Given the description of an element on the screen output the (x, y) to click on. 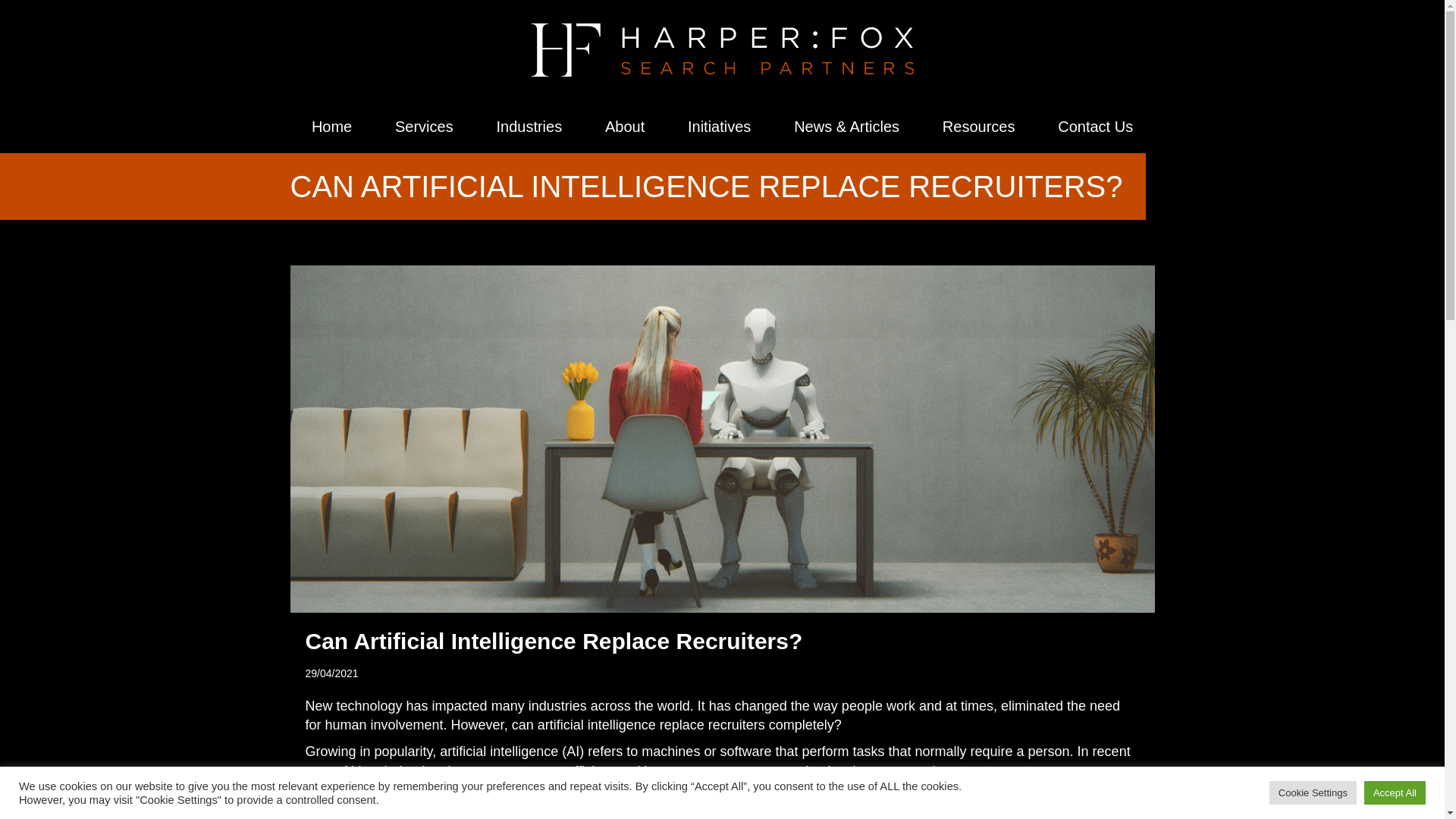
Cookie Settings (1312, 792)
About (624, 126)
Home (330, 126)
Accept All (1394, 792)
Industries (528, 126)
Resources (977, 126)
Initiatives (719, 126)
Contact Us (1095, 126)
Services (424, 126)
